Given the description of an element on the screen output the (x, y) to click on. 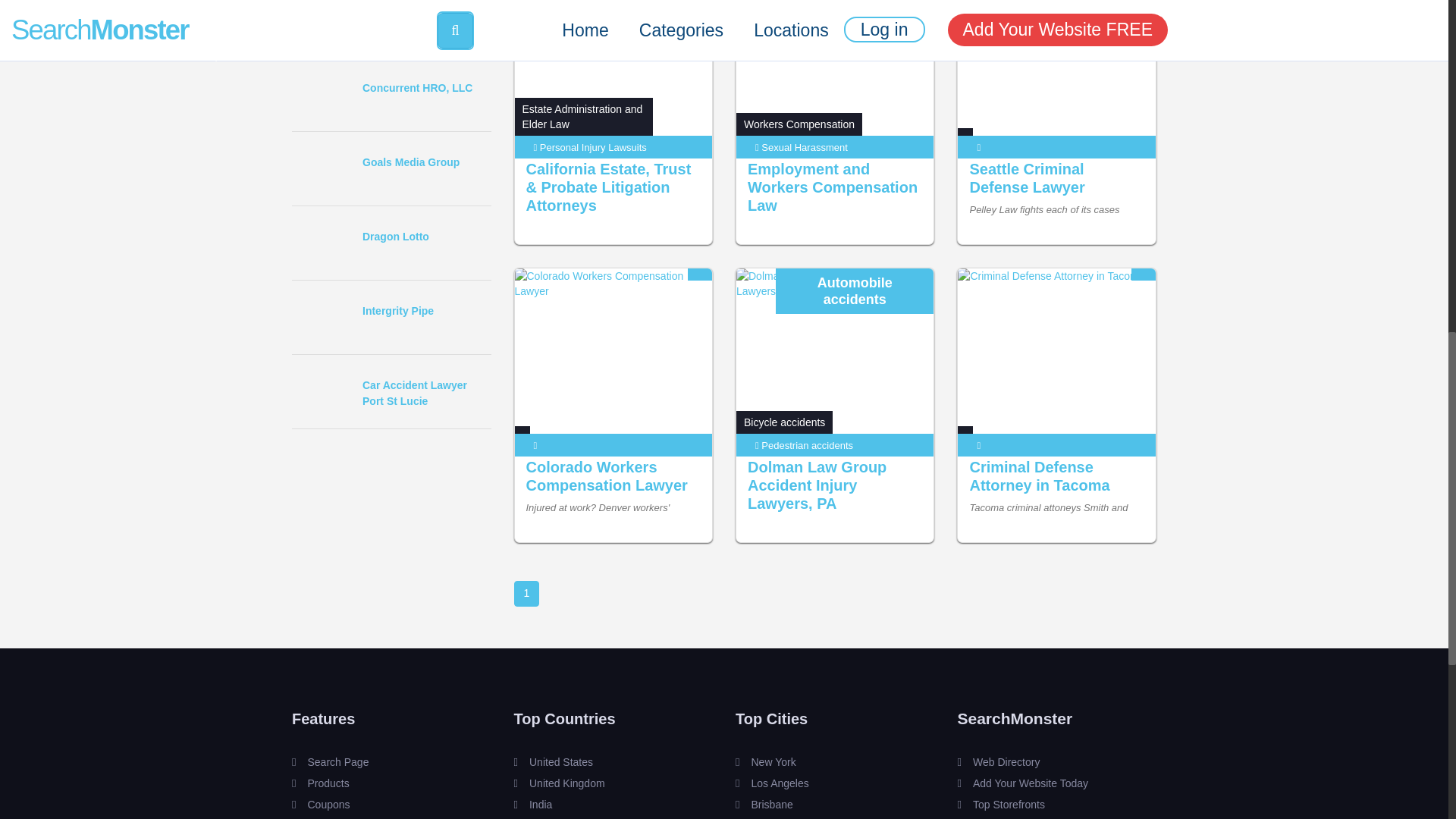
Employment and Workers Compensation Law (832, 186)
Colorado Workers Compensation Lawyer (606, 475)
Dolman Law Group Accident Injury Lawyers, PA (817, 484)
Seattle Criminal Defense Lawyer (1026, 177)
Criminal Defense Attorney in Tacoma (1039, 475)
